Given the description of an element on the screen output the (x, y) to click on. 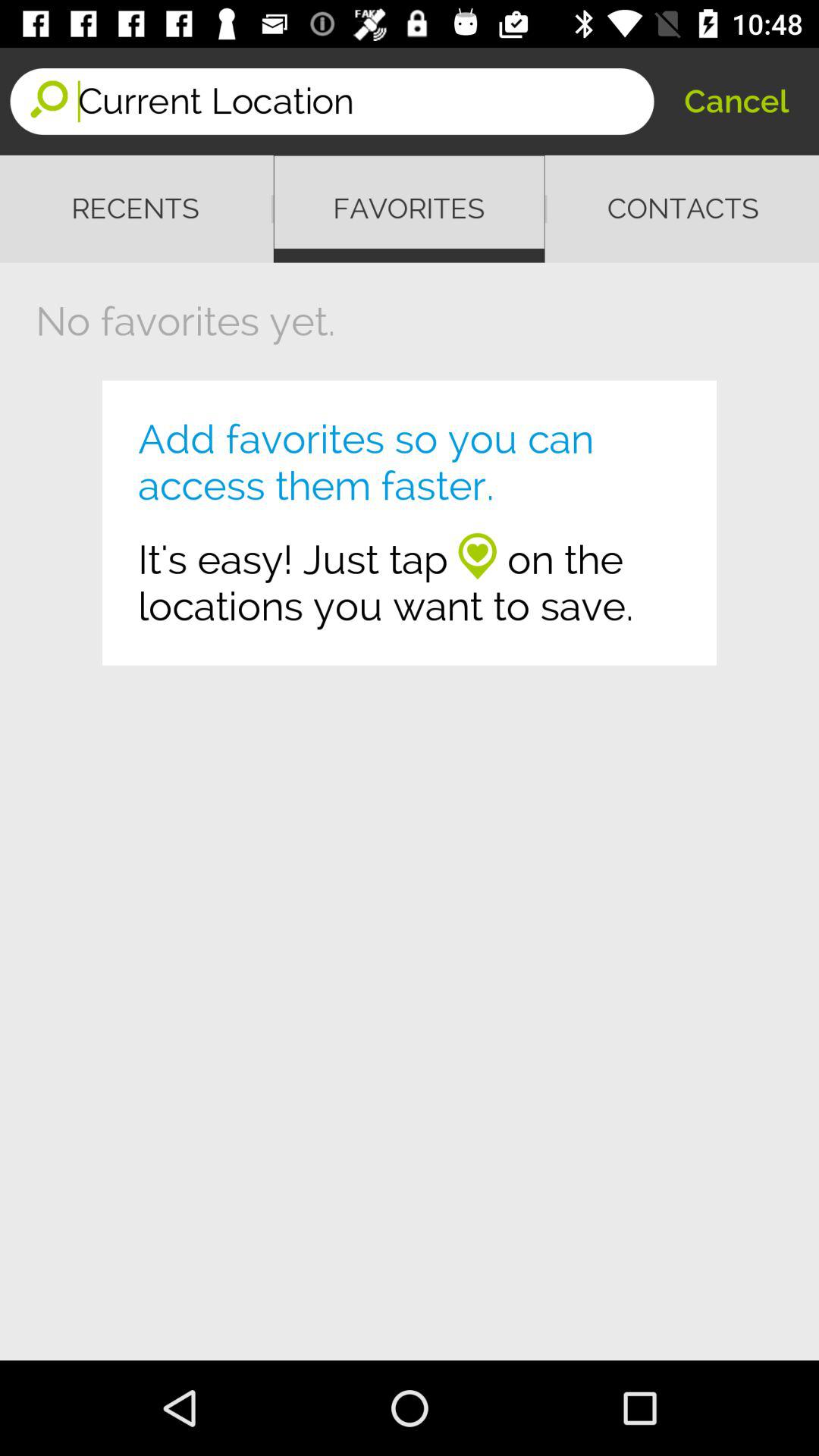
tap the icon next to cancel icon (365, 101)
